Given the description of an element on the screen output the (x, y) to click on. 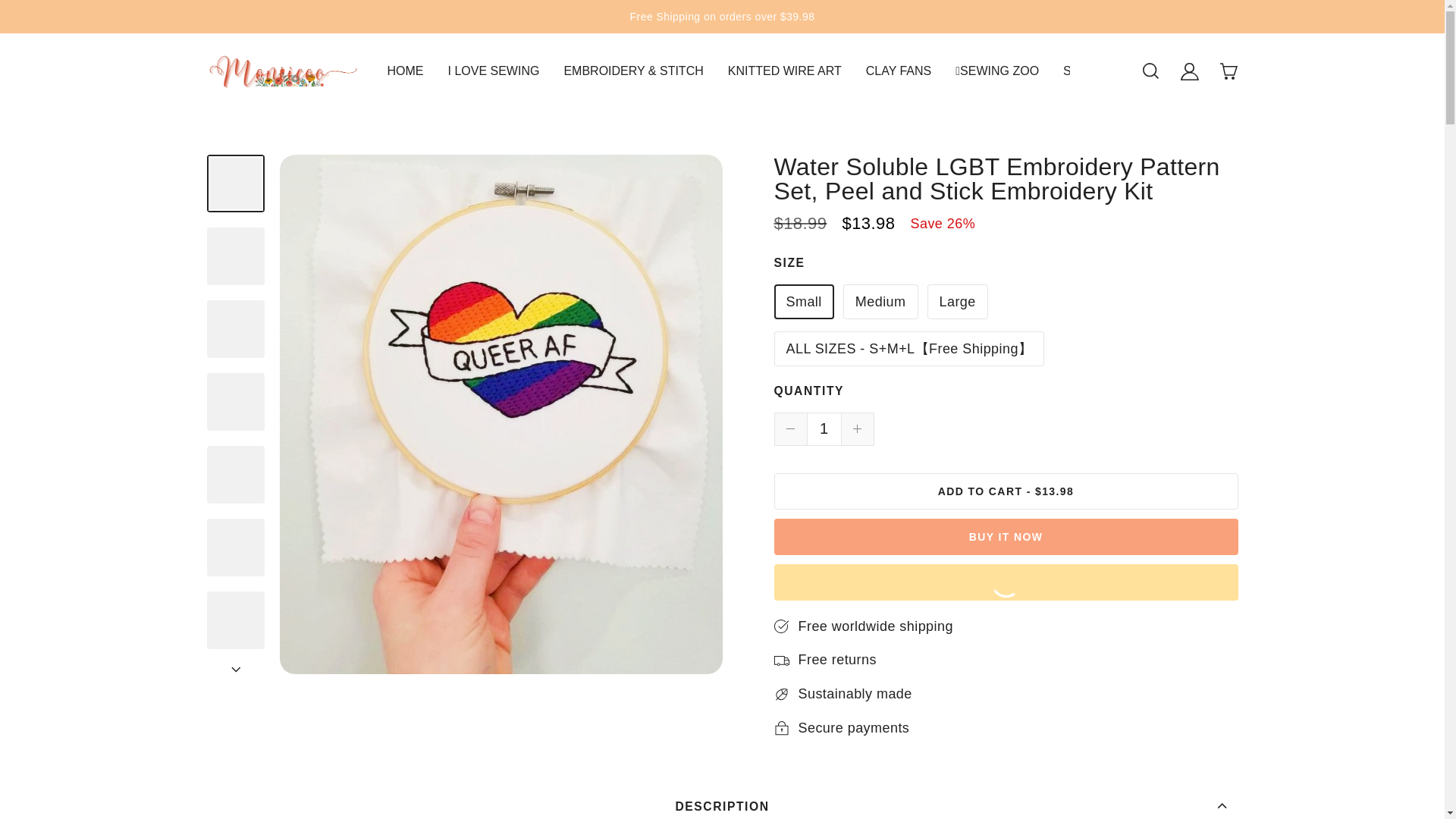
SEWING TOOLS (1109, 71)
KNITTED WIRE ART (784, 71)
CLAY FANS (898, 71)
HOME (405, 71)
I LOVE SEWING (492, 71)
1 (823, 428)
